Given the description of an element on the screen output the (x, y) to click on. 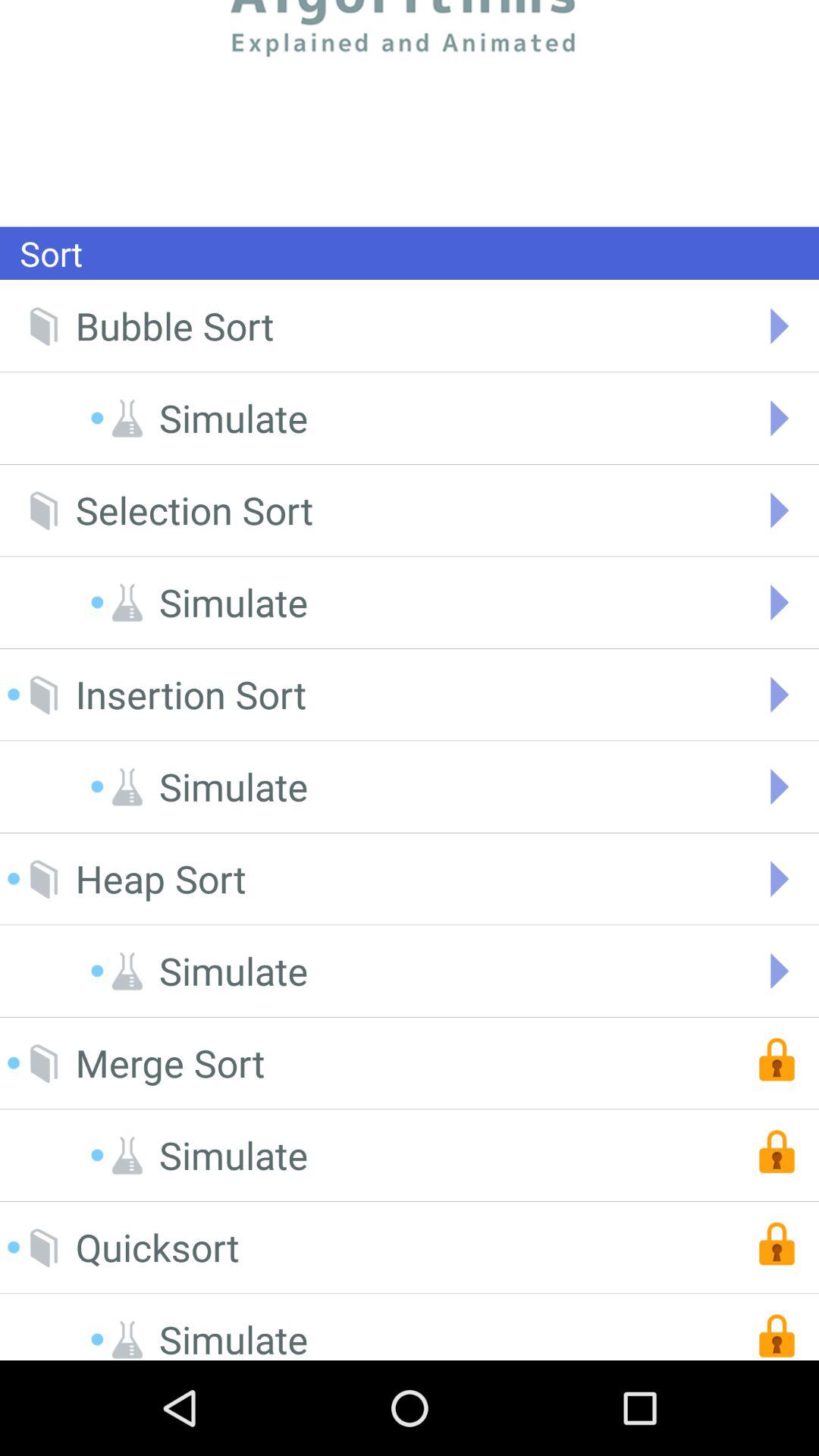
turn off icon below the sort item (174, 325)
